Given the description of an element on the screen output the (x, y) to click on. 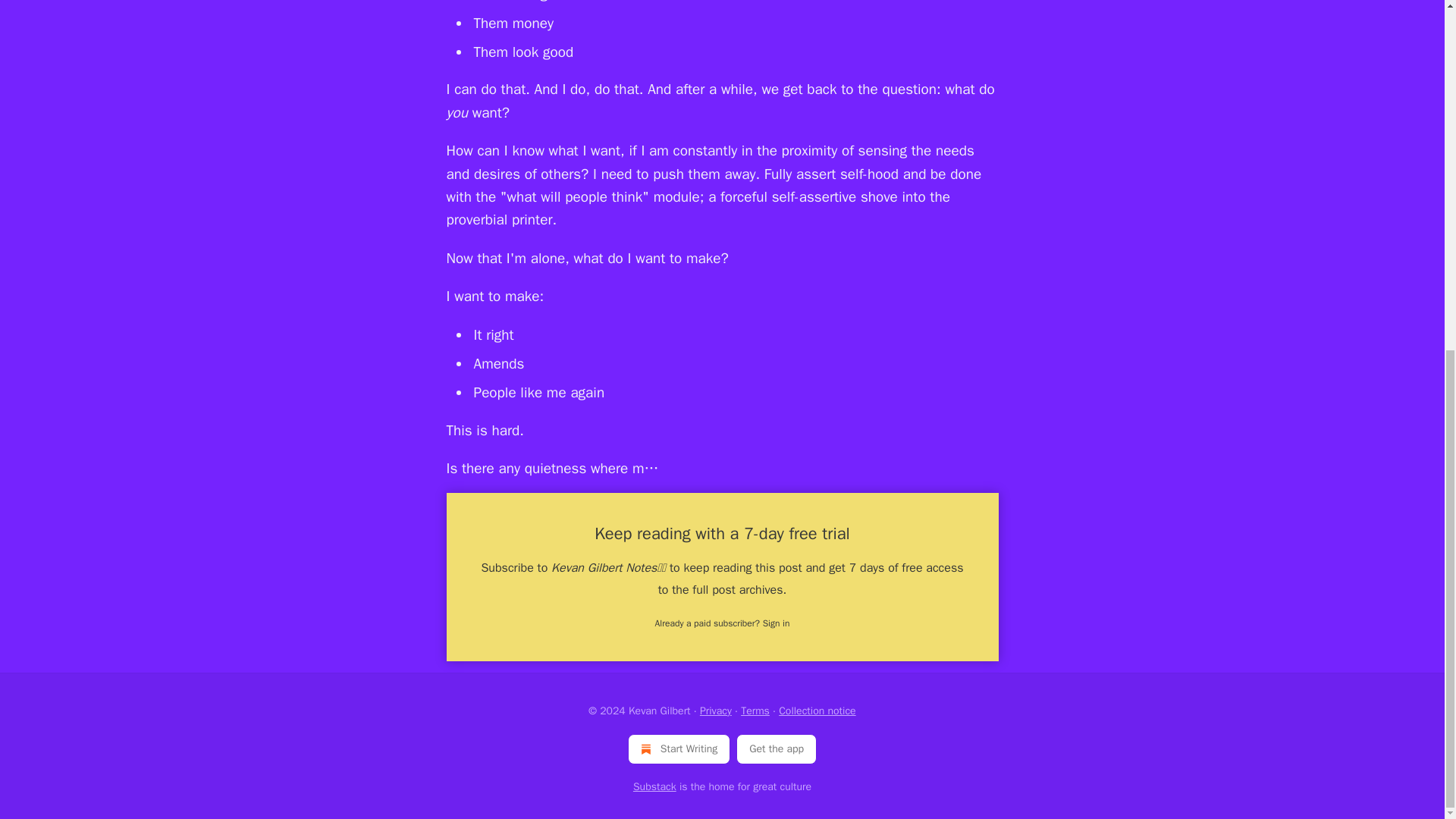
Start Writing (678, 748)
Terms (755, 710)
Privacy (716, 710)
Substack (655, 786)
Collection notice (817, 710)
Get the app (776, 748)
Already a paid subscriber? Sign in (722, 623)
